Given the description of an element on the screen output the (x, y) to click on. 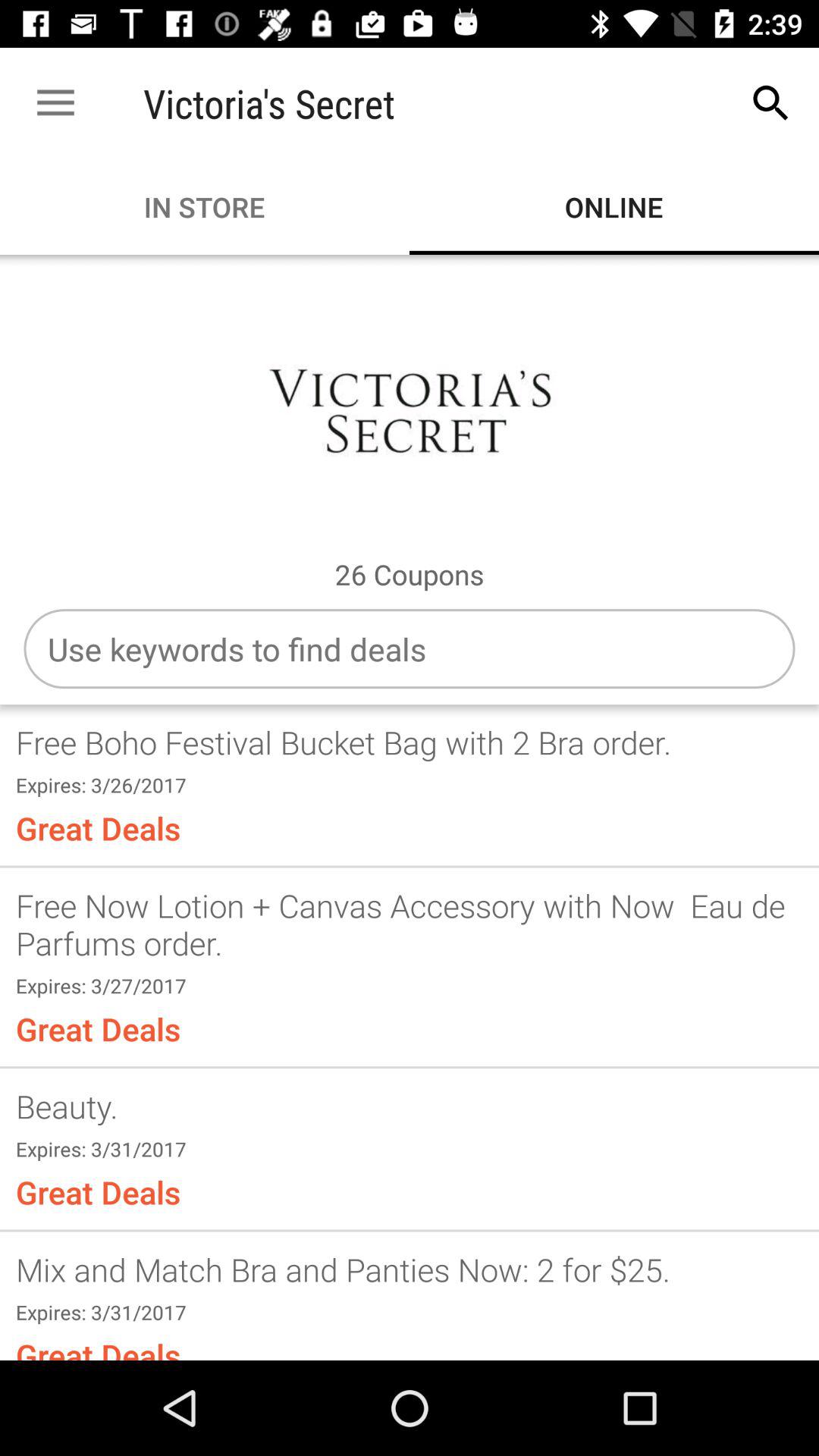
open the item to the left of the victoria's secret  item (55, 103)
